Given the description of an element on the screen output the (x, y) to click on. 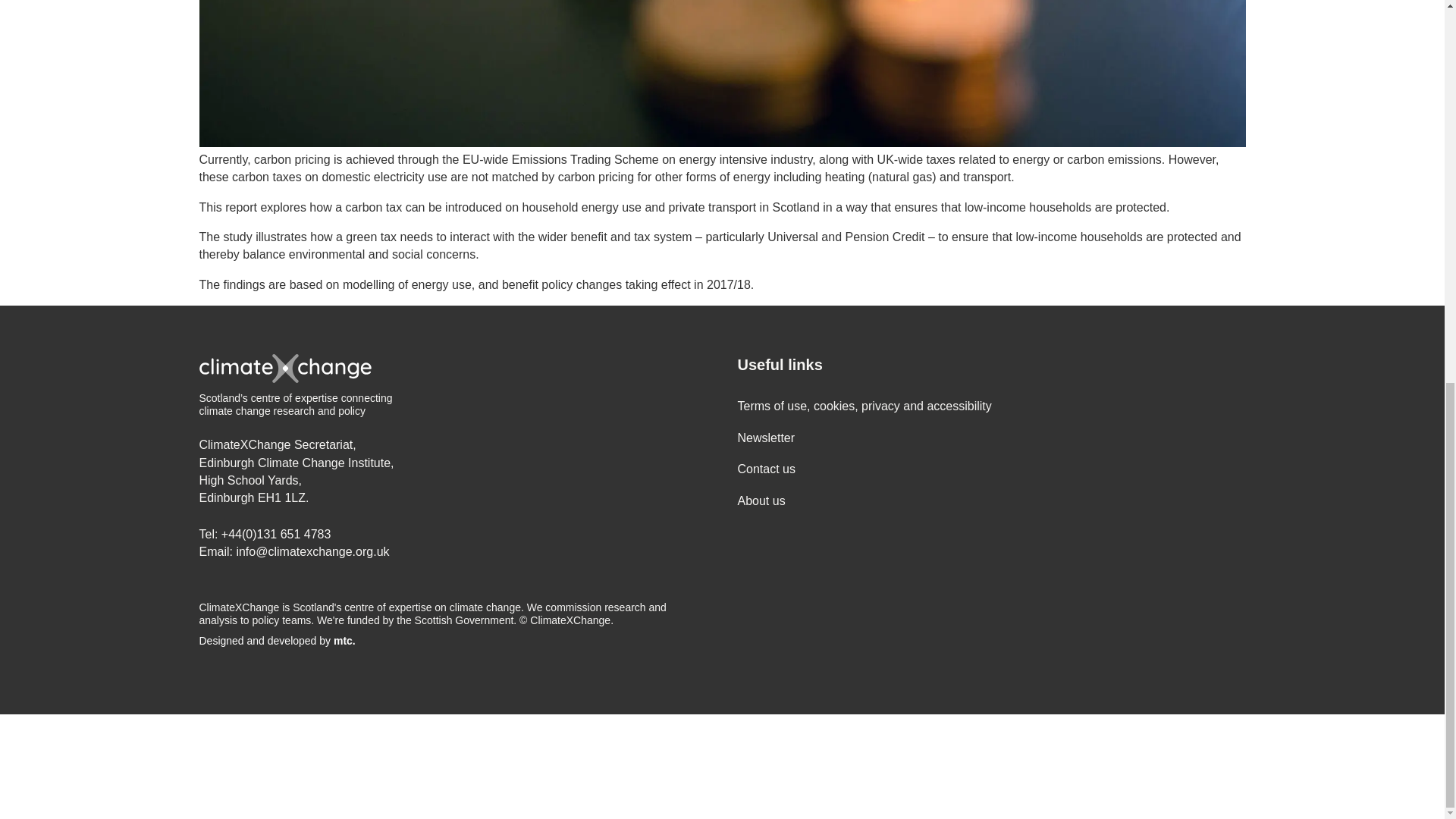
Contact us (765, 468)
Newsletter (765, 437)
About us (760, 500)
internet-crystal-mark (417, 766)
Terms of use, cookies, privacy and accessibility (863, 405)
Designed and developed by mtc. (452, 640)
government-logo-1-e1696504105465-300x46 (180, 766)
